Given the description of an element on the screen output the (x, y) to click on. 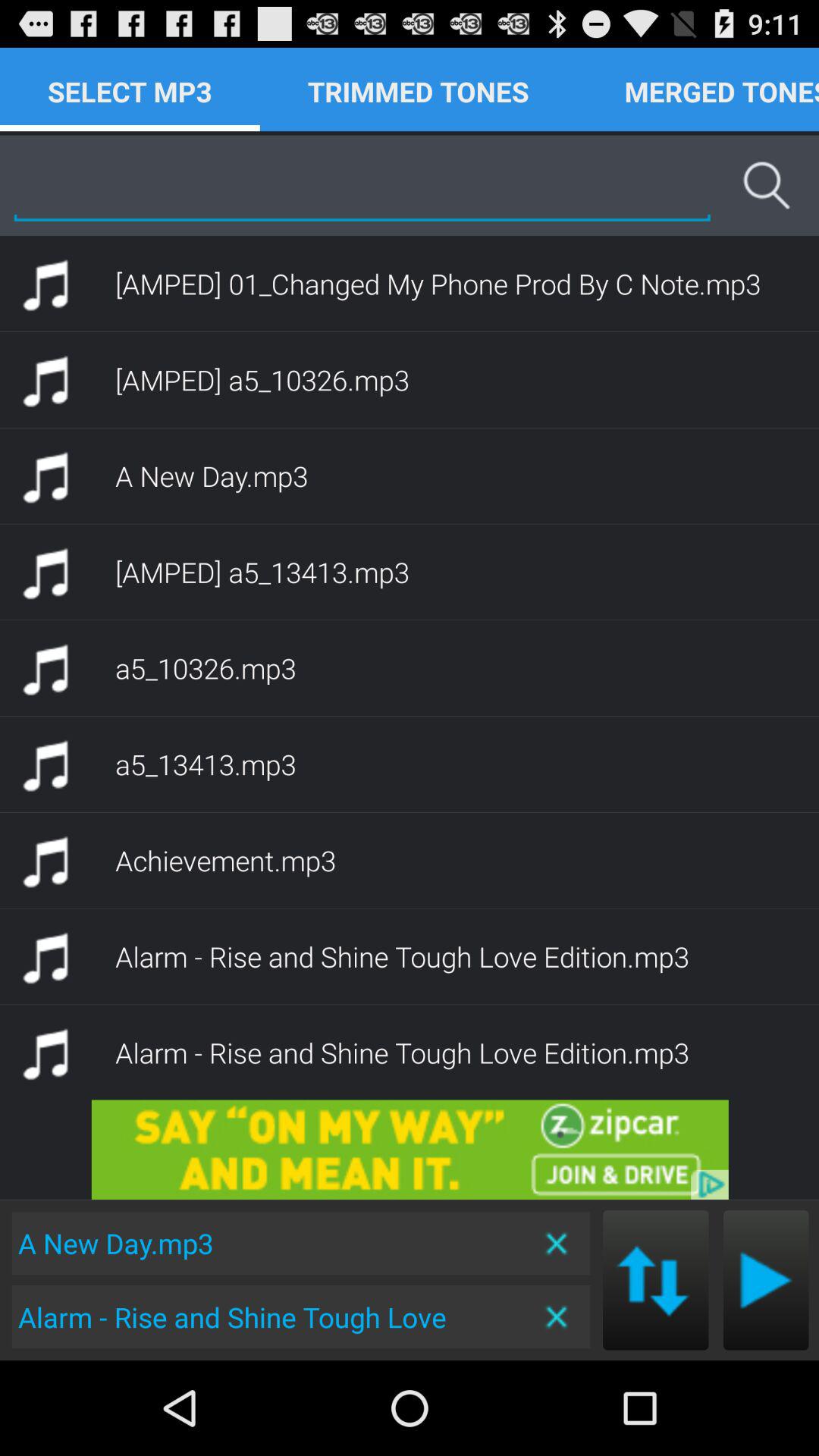
deletes song (557, 1316)
